Given the description of an element on the screen output the (x, y) to click on. 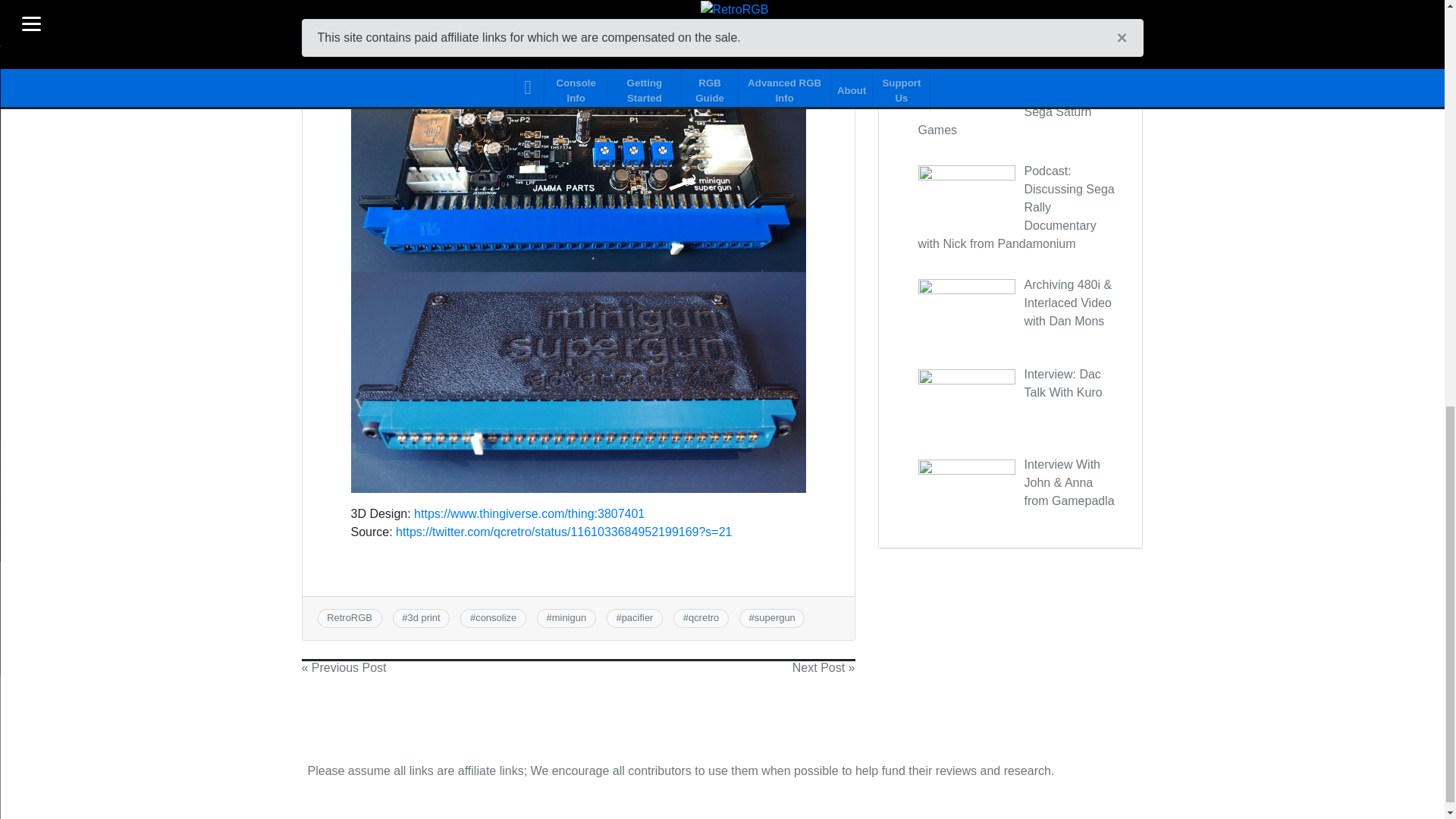
3d print (423, 617)
consolize (496, 617)
supergun (774, 617)
Interview: Dac Talk With Kuro (1062, 382)
pacifier (637, 617)
qcretro (703, 617)
minigun (568, 617)
RetroRGB (349, 617)
